Given the description of an element on the screen output the (x, y) to click on. 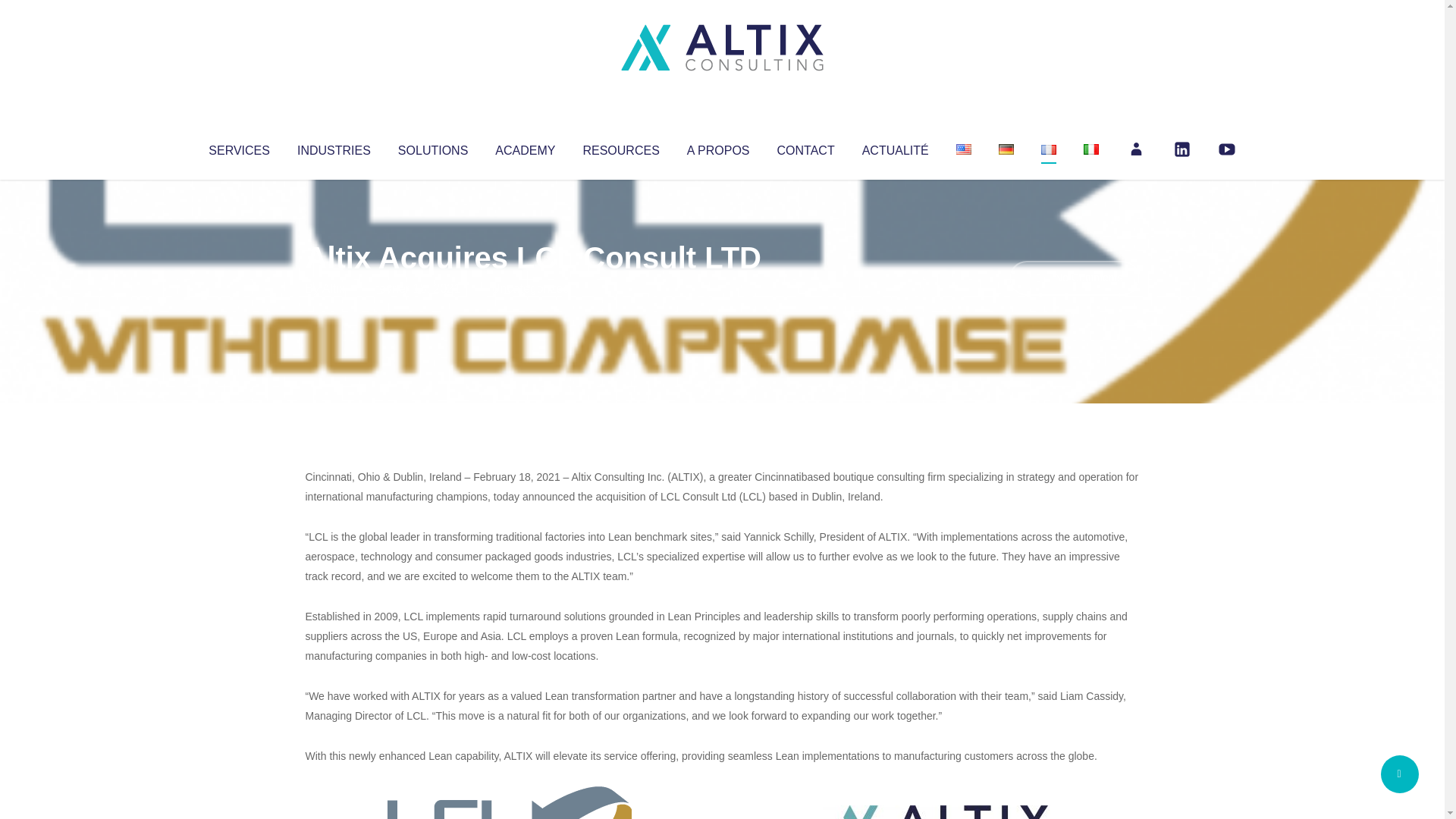
No Comments (1073, 278)
SOLUTIONS (432, 146)
ACADEMY (524, 146)
Uncategorized (530, 287)
A PROPOS (718, 146)
Altix (333, 287)
RESOURCES (620, 146)
INDUSTRIES (334, 146)
SERVICES (238, 146)
Articles par Altix (333, 287)
